Given the description of an element on the screen output the (x, y) to click on. 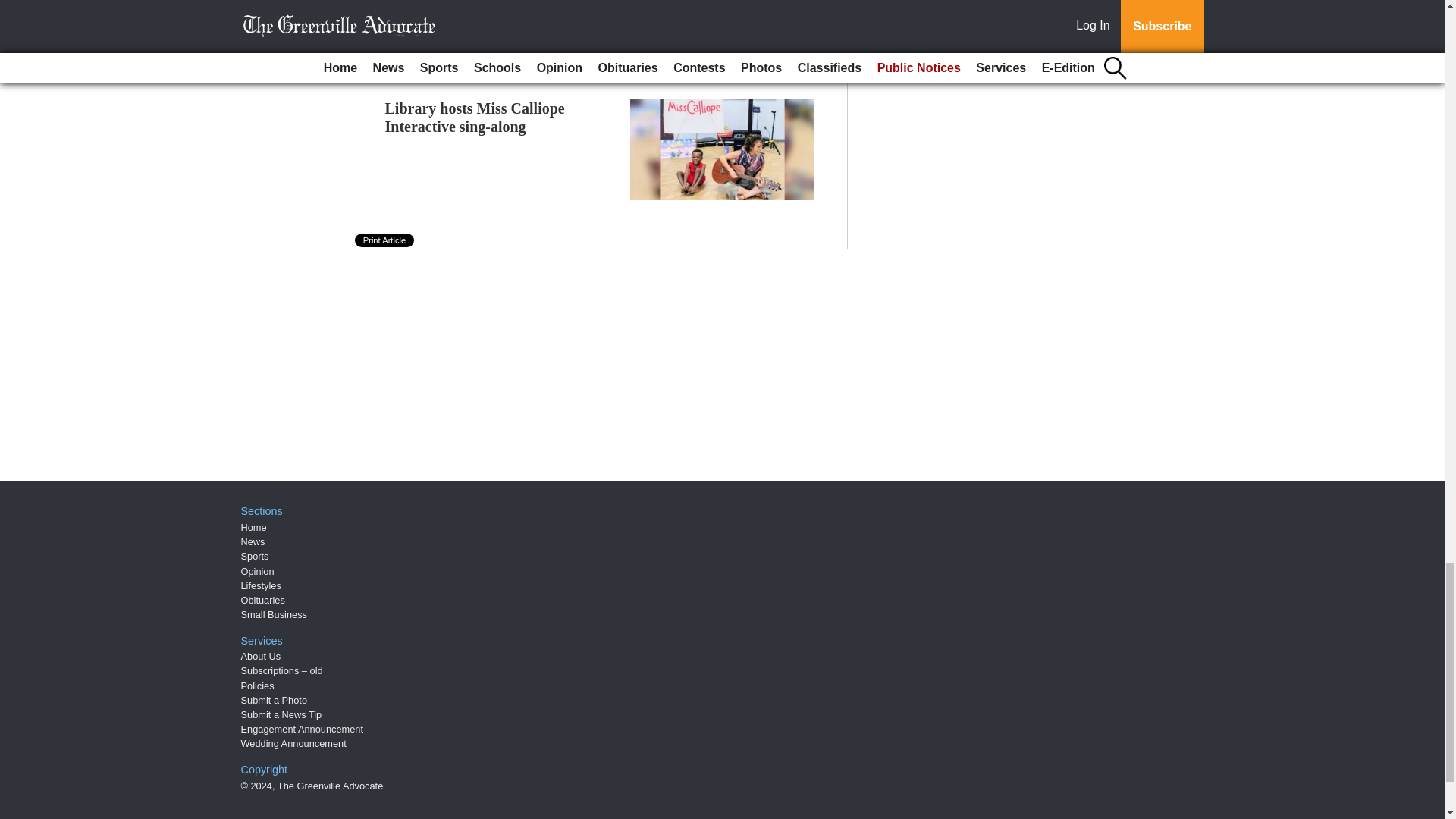
Library hosts Miss Calliope Interactive sing-along (474, 117)
Library hosts Miss Calliope Interactive sing-along (474, 117)
News (252, 541)
Print Article (384, 240)
Home (253, 527)
